Given the description of an element on the screen output the (x, y) to click on. 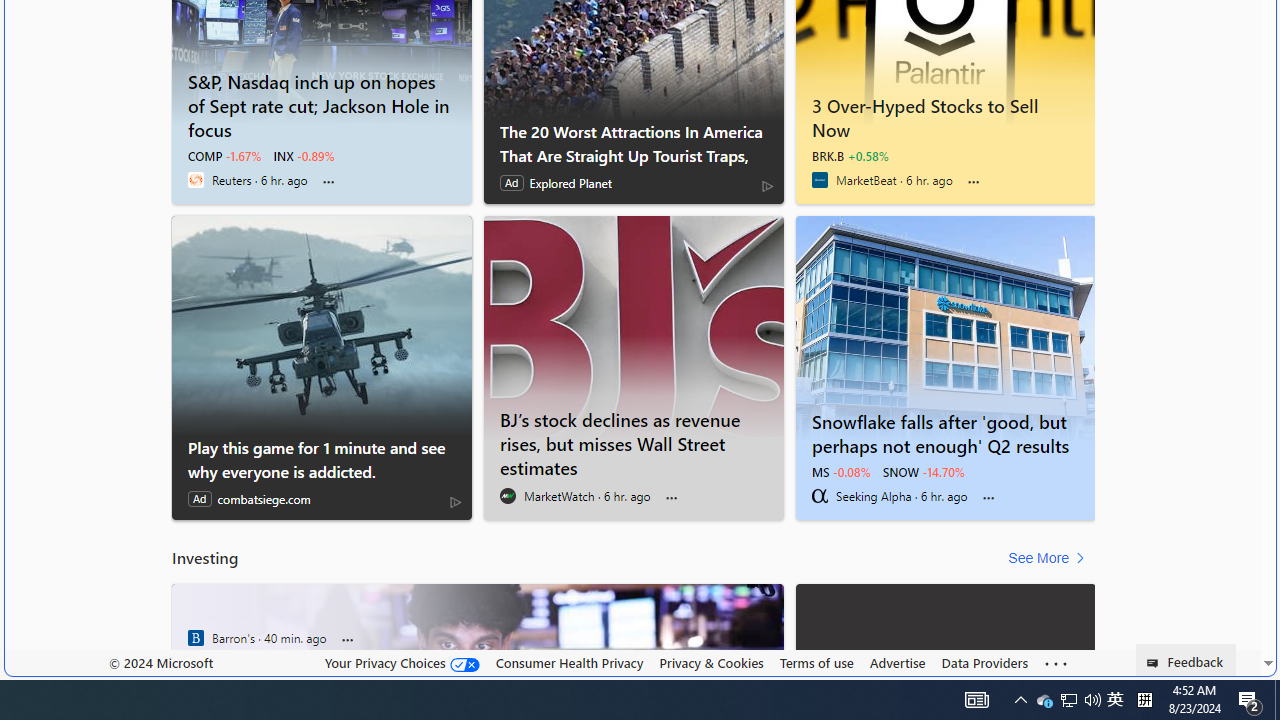
24/7 Wall St. (195, 637)
SNOW -14.70% (923, 471)
Consumer Health Privacy (569, 663)
Seeking Alpha (819, 495)
MS -0.08% (840, 471)
Terms of use (816, 663)
AdChoices (456, 501)
Your Privacy Choices (401, 662)
Data Providers (983, 663)
Consumer Health Privacy (569, 662)
